Given the description of an element on the screen output the (x, y) to click on. 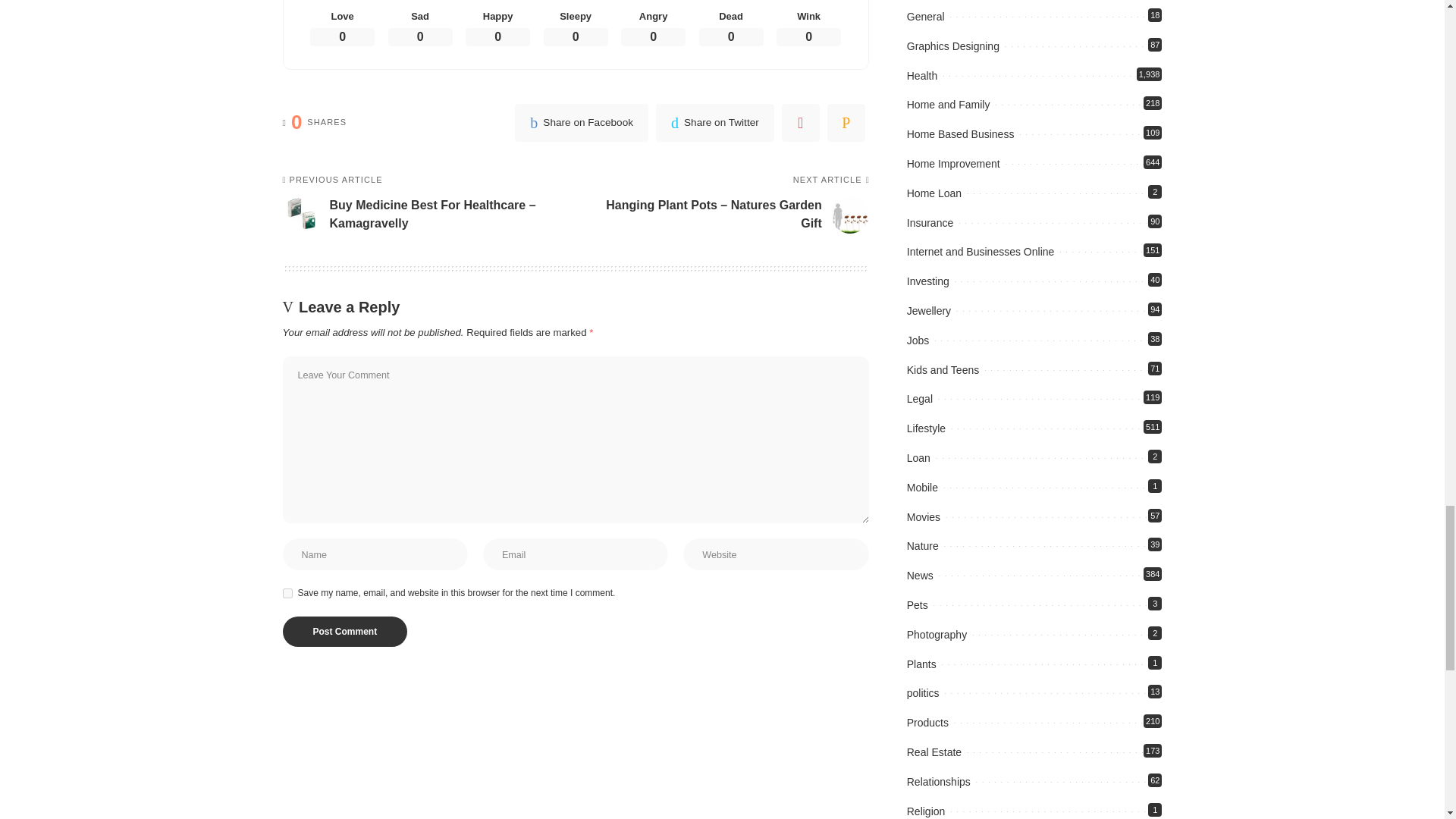
Post Comment (344, 631)
yes (287, 593)
